Given the description of an element on the screen output the (x, y) to click on. 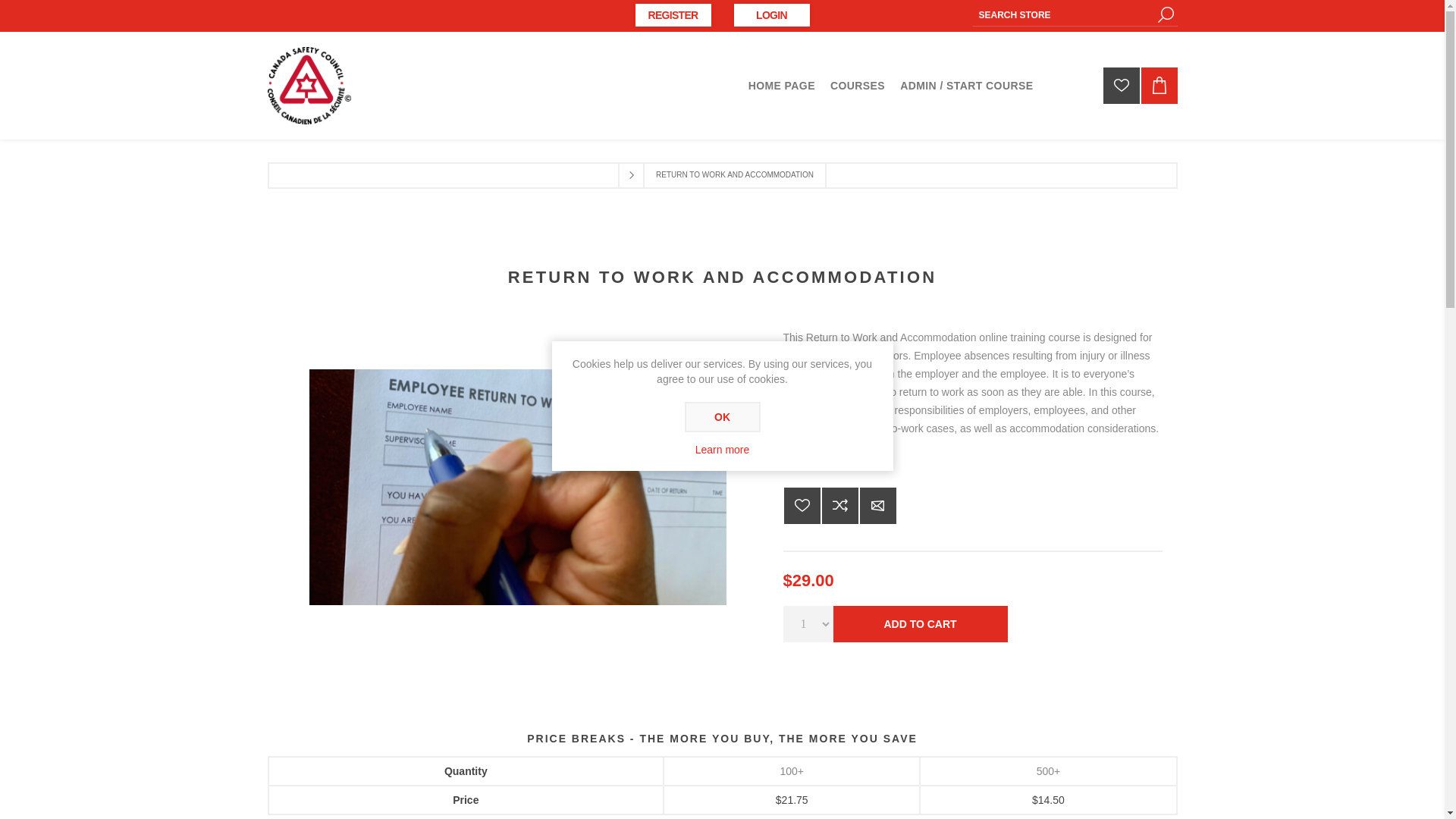
Add to compare list (840, 505)
Email a friend (878, 505)
ADD TO CART (919, 624)
Home Page (781, 85)
Add to wishlist (802, 505)
HOME PAGE (781, 85)
LOGIN (771, 15)
Search (1165, 14)
REGISTER (672, 15)
Canada Safety Council Online Store by Vubiz (308, 85)
